Given the description of an element on the screen output the (x, y) to click on. 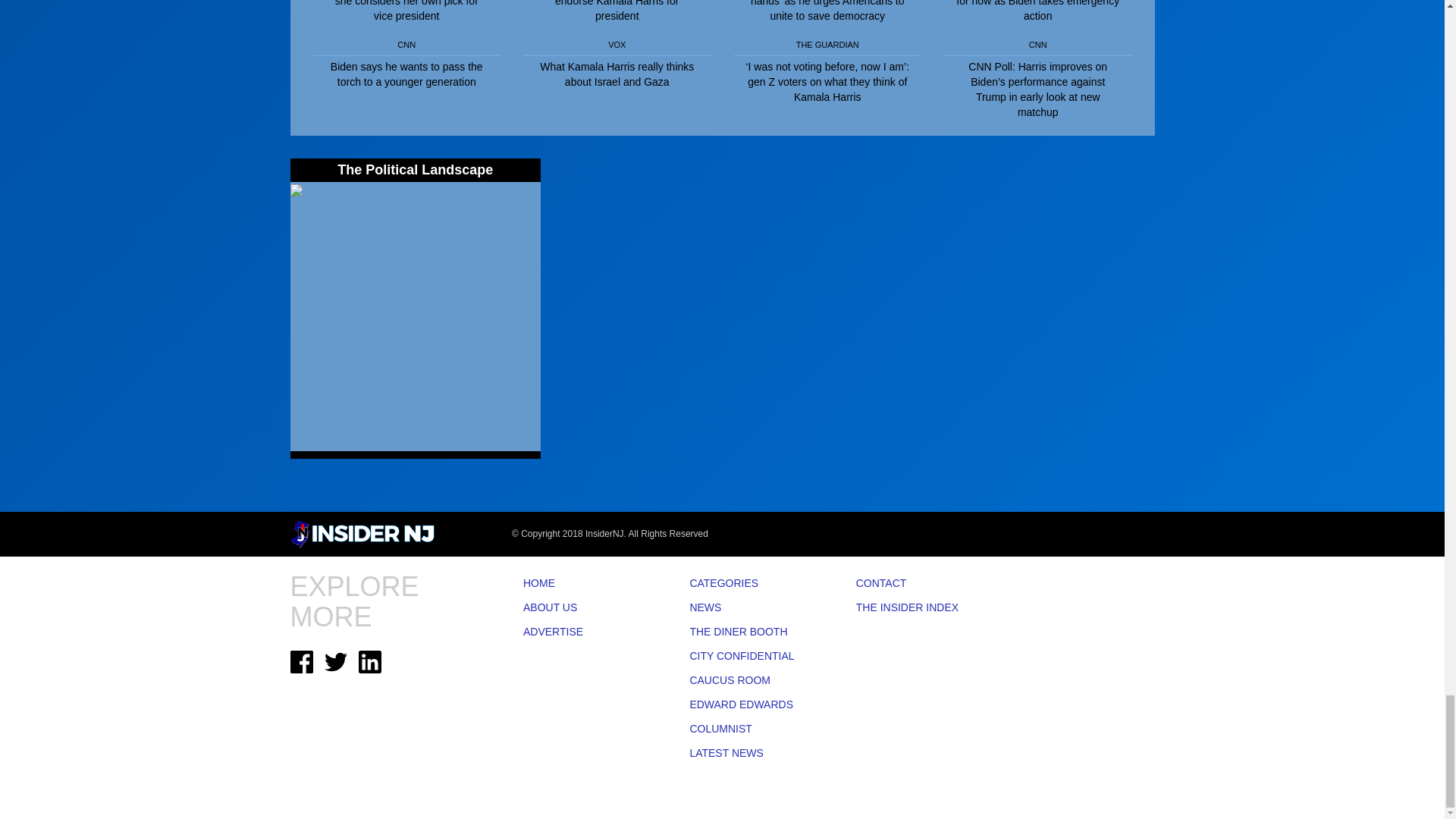
Categories (749, 583)
About Us (583, 607)
Advertise (583, 631)
Home (583, 583)
News (749, 607)
